Given the description of an element on the screen output the (x, y) to click on. 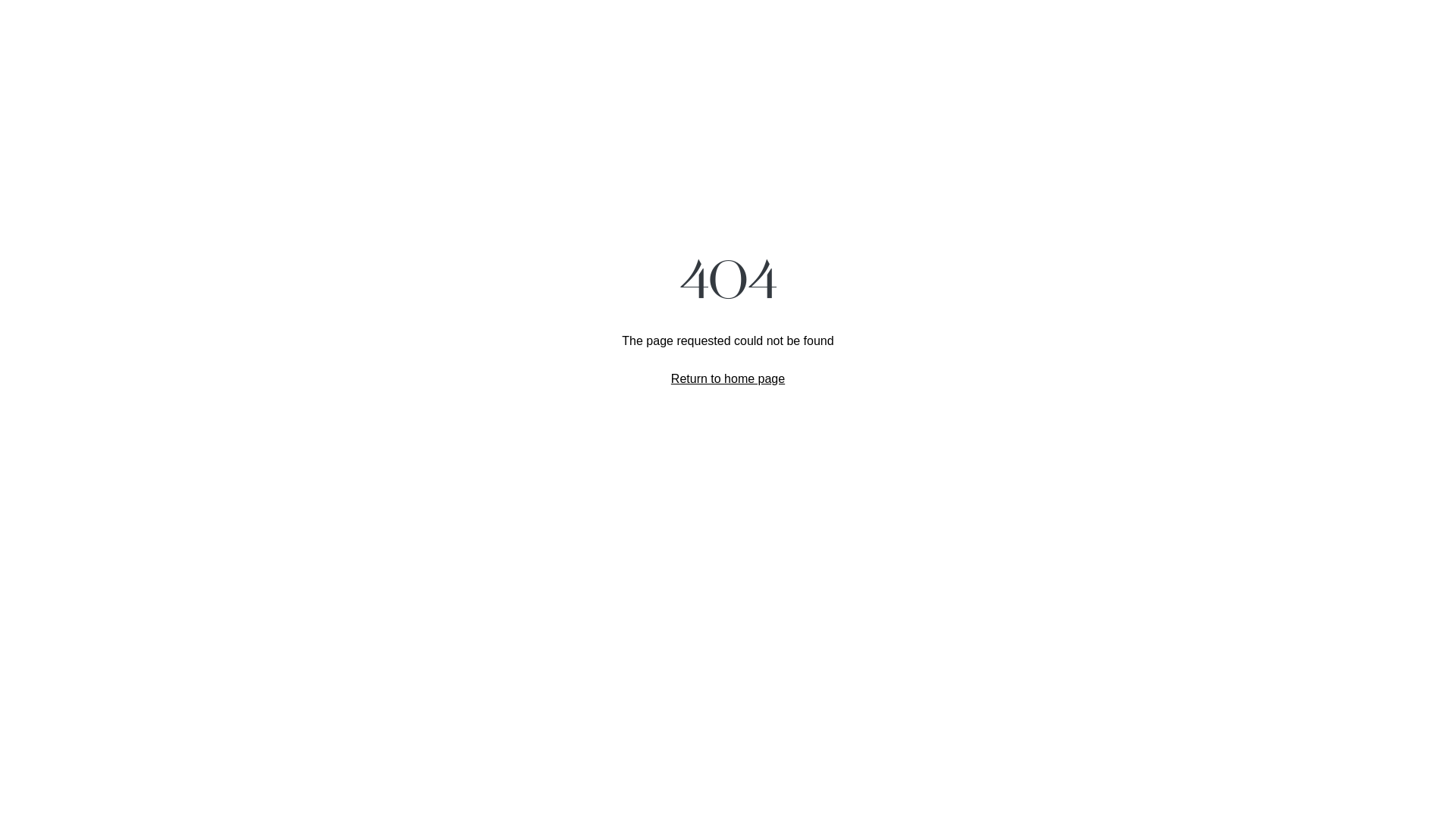
Return to home page Element type: text (727, 377)
